Given the description of an element on the screen output the (x, y) to click on. 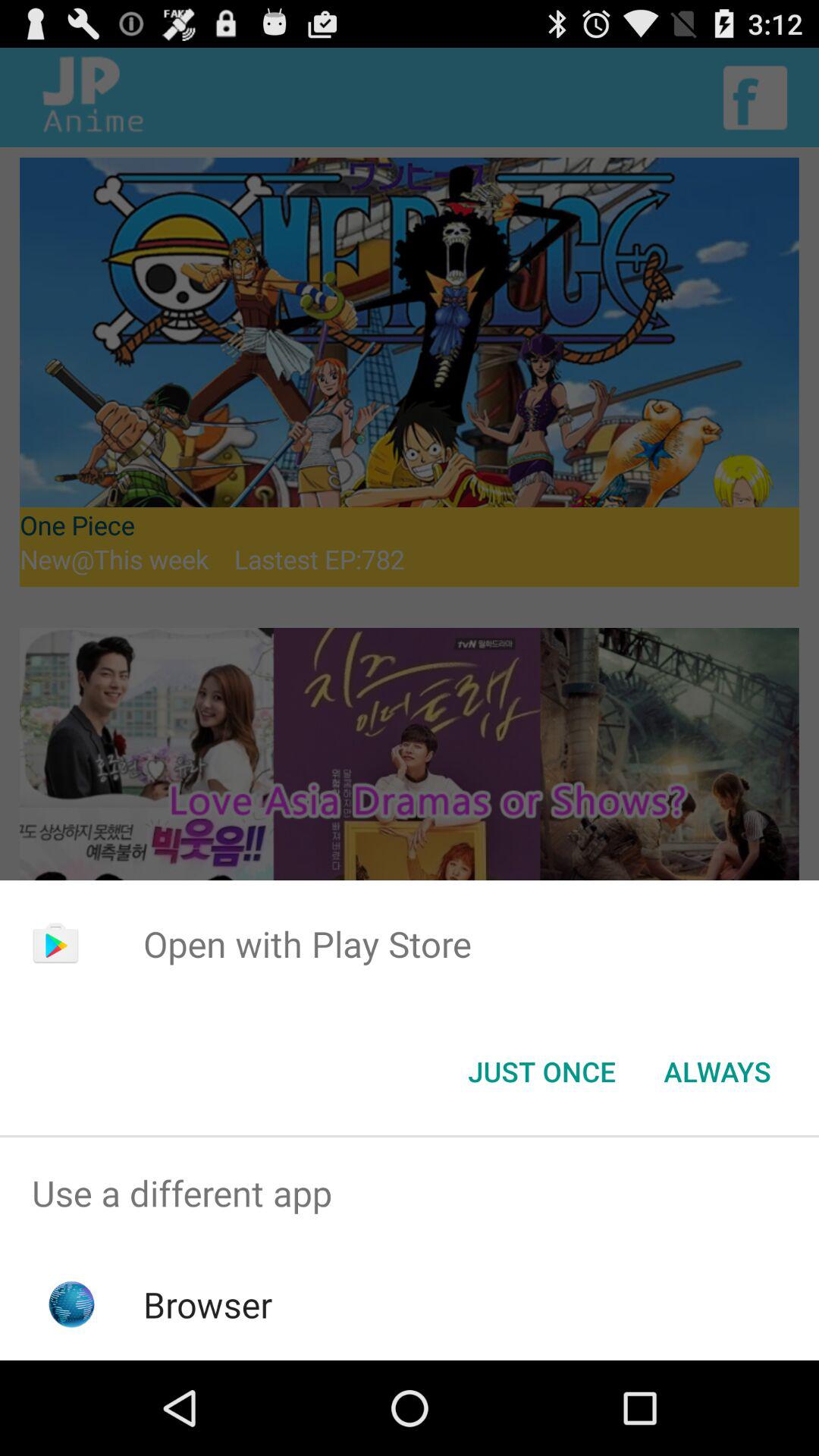
choose item next to the just once button (717, 1071)
